Given the description of an element on the screen output the (x, y) to click on. 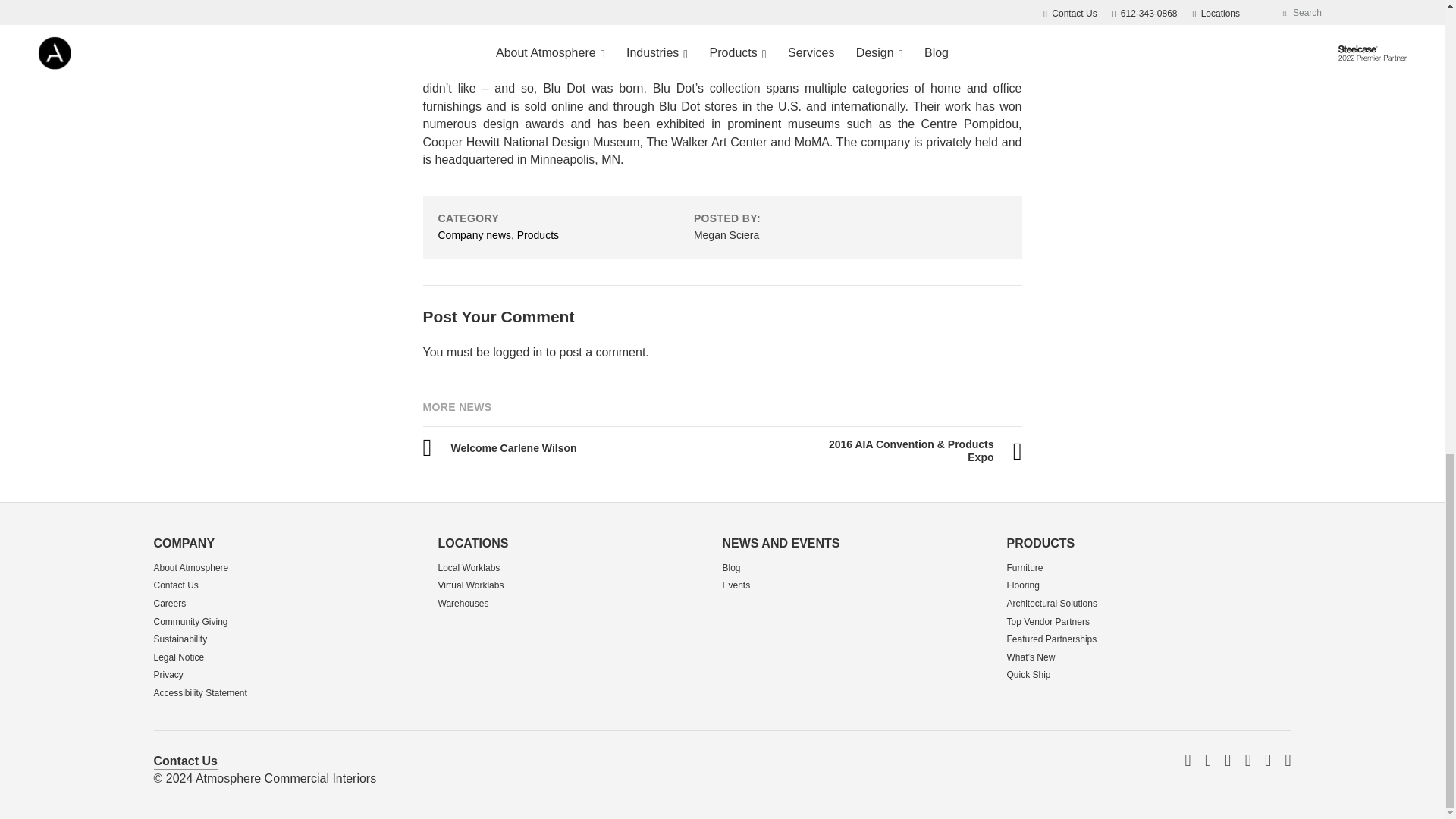
Company news (475, 234)
Follow us on Facebook (1208, 760)
Follow us on Instagram (1287, 760)
Follow us on LinkedIn (1227, 760)
Follow us on Pinterest (1268, 760)
Follow us on Twitter (1188, 760)
Follow us on YouTube (1247, 760)
